Given the description of an element on the screen output the (x, y) to click on. 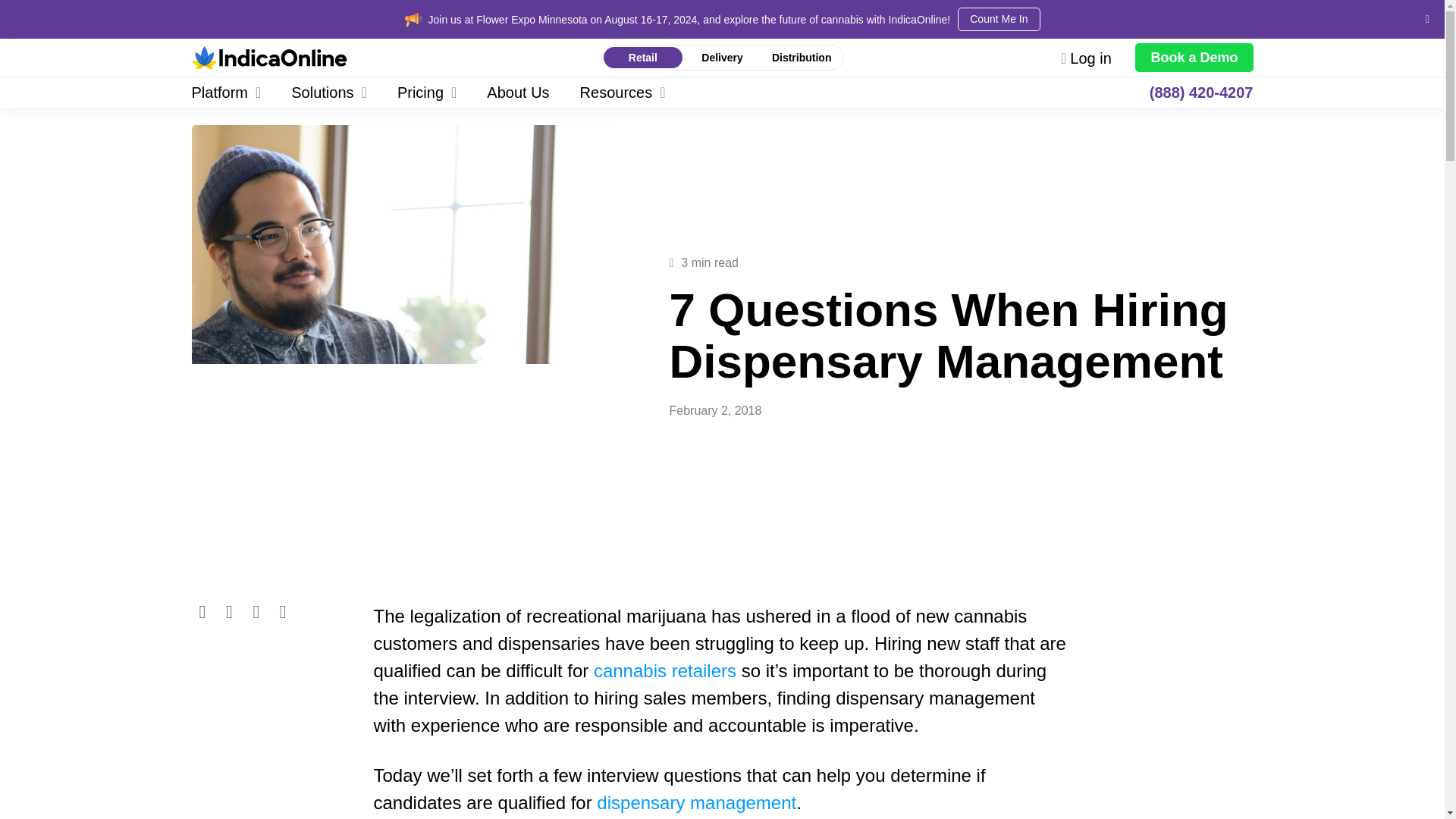
Book a Demo (1193, 57)
Platform (233, 91)
Distribution (801, 57)
About Us (517, 91)
Count Me In (998, 19)
Delivery (721, 57)
Log in (1086, 57)
Retail (643, 57)
Pricing (426, 91)
Resources (622, 91)
